Given the description of an element on the screen output the (x, y) to click on. 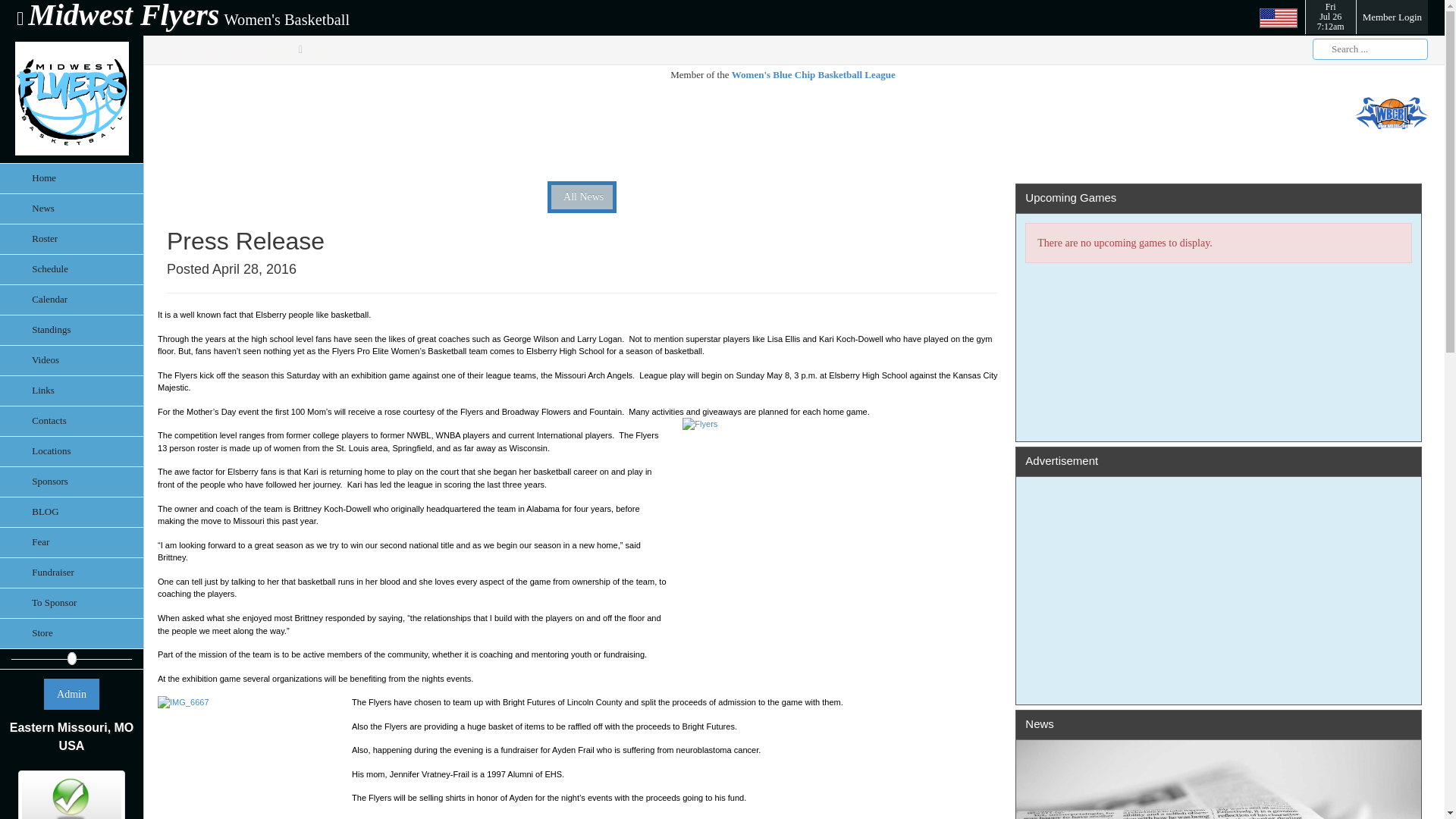
Fear (71, 542)
Videos (71, 360)
BLOG (71, 512)
Advertisement (754, 128)
Fundraiser (1330, 17)
Midwest Flyers Women's Basketball (71, 572)
Standings (182, 18)
Roster (71, 329)
Calendar (71, 238)
Links (71, 299)
Advertisement (71, 390)
Sponsors (1218, 580)
Contacts (71, 481)
All News (71, 420)
